Given the description of an element on the screen output the (x, y) to click on. 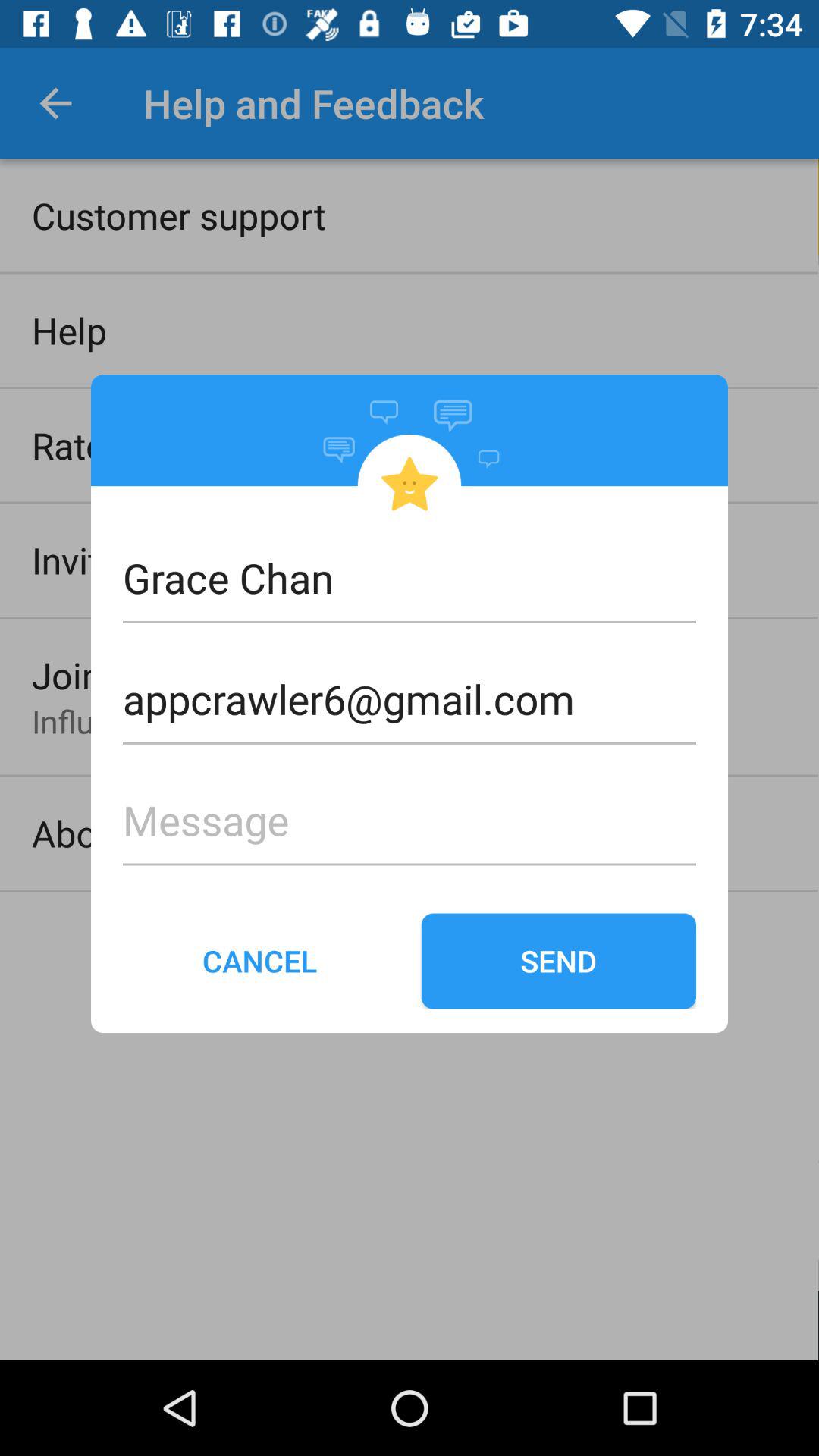
turn on the grace chan item (409, 577)
